Given the description of an element on the screen output the (x, y) to click on. 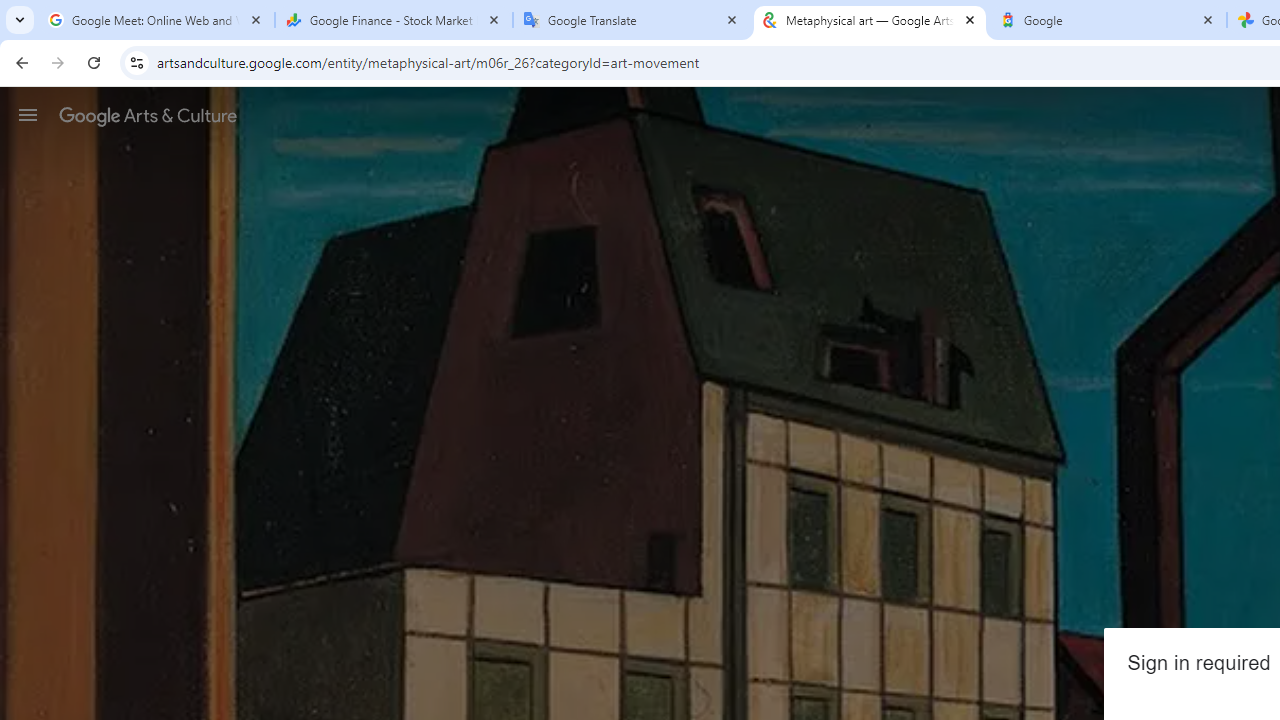
Menu (27, 114)
Google Arts & Culture (148, 115)
Google Translate (632, 20)
Google (1108, 20)
